Given the description of an element on the screen output the (x, y) to click on. 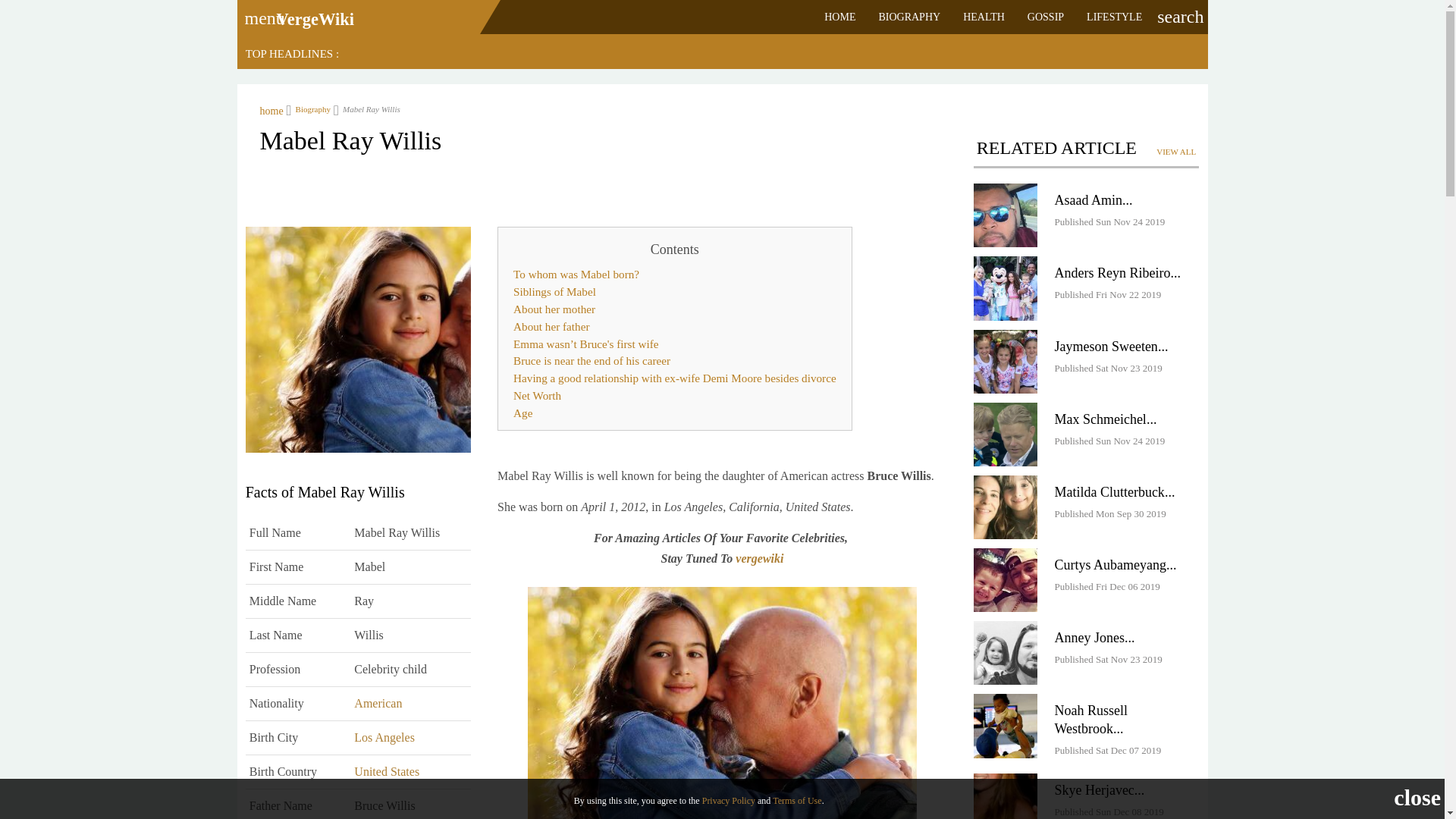
Curtys Aubameyang (1110, 564)
Asaad Amin (1088, 200)
menu (259, 13)
Matilda Clutterbuck (1108, 491)
Los Angeles (383, 737)
BIOGRAPHY (909, 17)
Privacy Policy (728, 800)
HEALTH (984, 17)
To whom was Mabel born? (674, 274)
HOME (839, 17)
